Given the description of an element on the screen output the (x, y) to click on. 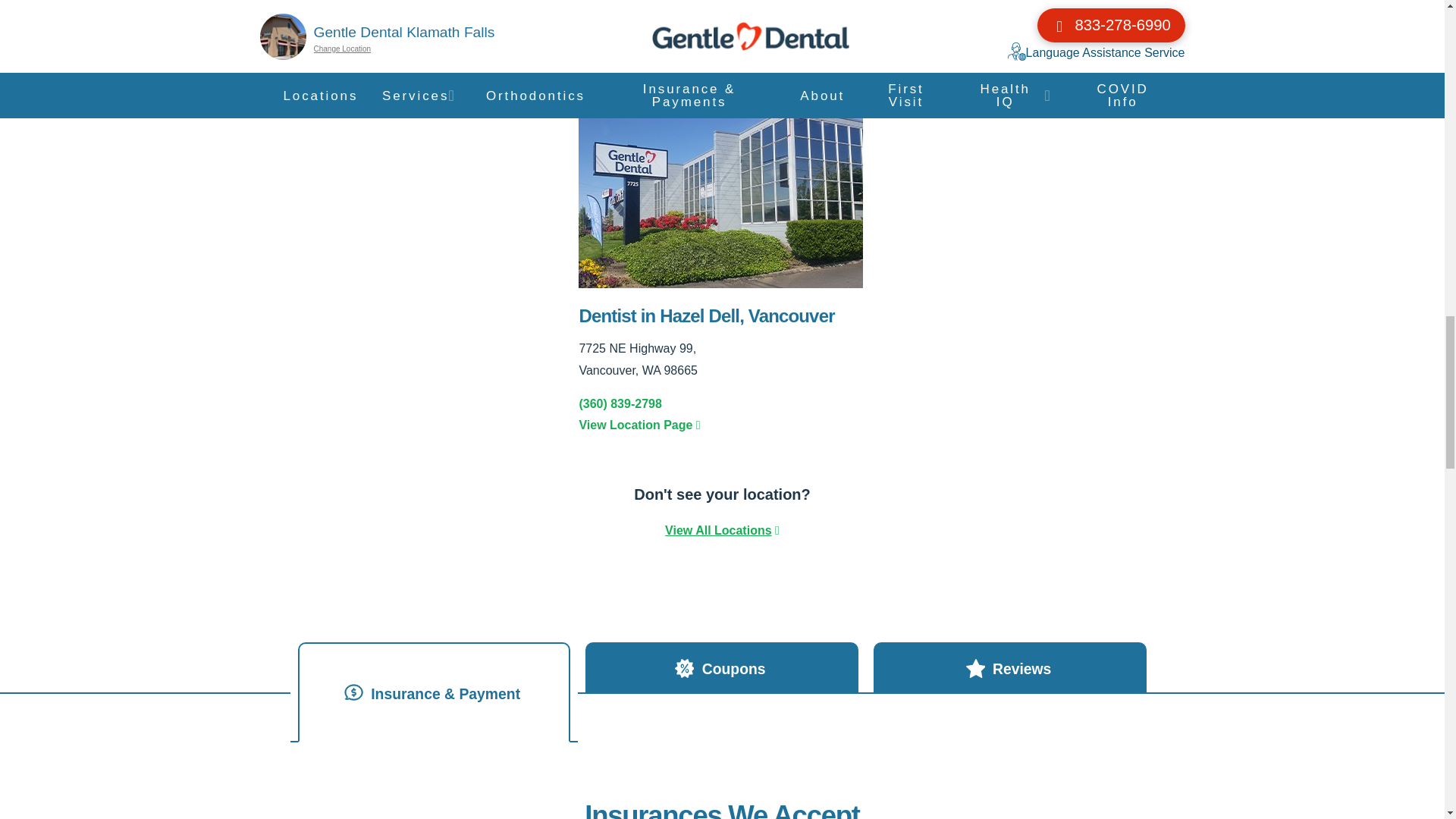
Reviews (1010, 667)
View Location Page (721, 425)
View All Locations (718, 531)
Coupons (722, 667)
